Given the description of an element on the screen output the (x, y) to click on. 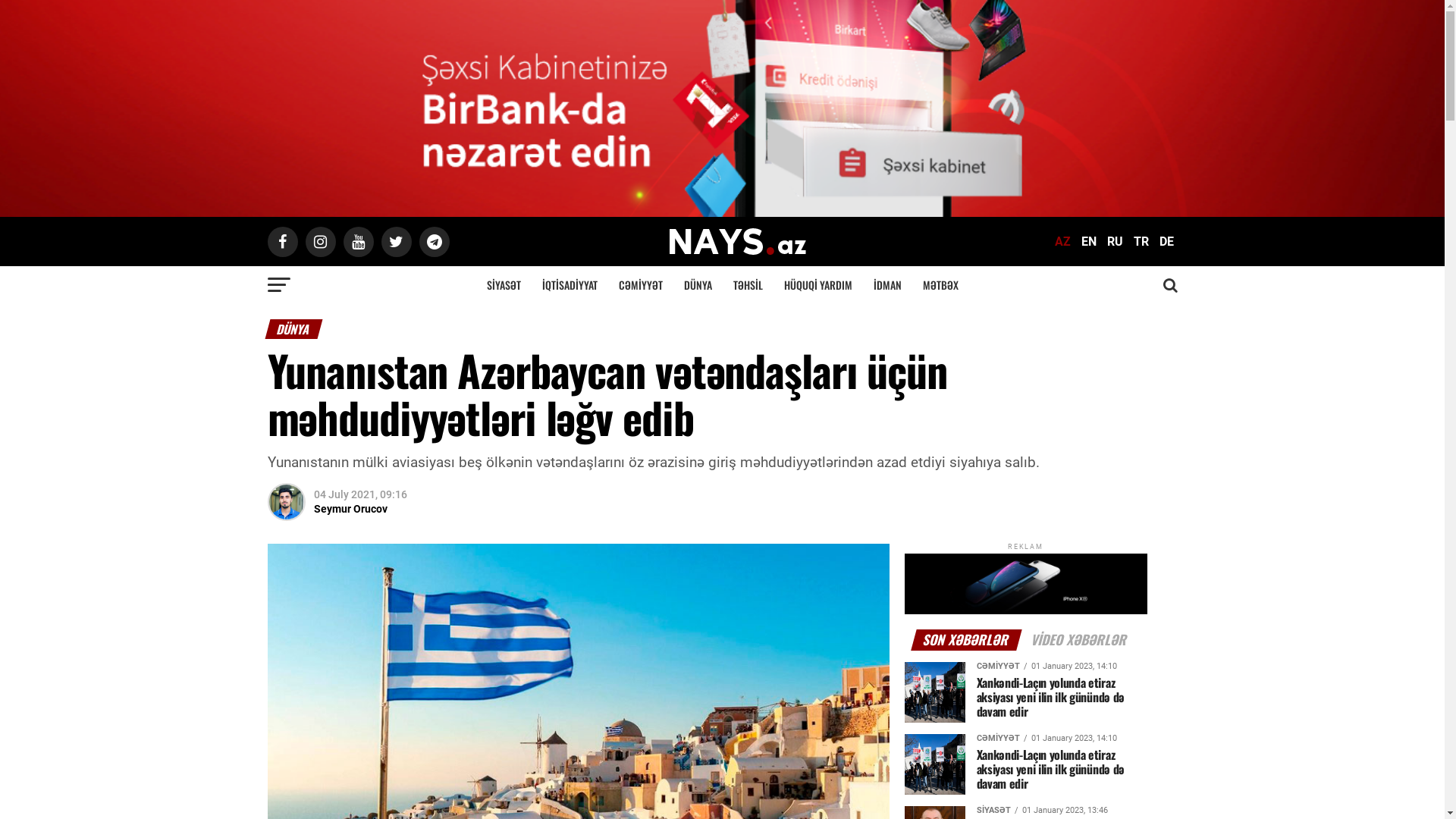
Seymur Orucov Element type: text (350, 508)
AZ Element type: text (1062, 240)
DE Element type: text (1165, 240)
EN Element type: text (1088, 240)
RU Element type: text (1115, 240)
TR Element type: text (1140, 240)
